Given the description of an element on the screen output the (x, y) to click on. 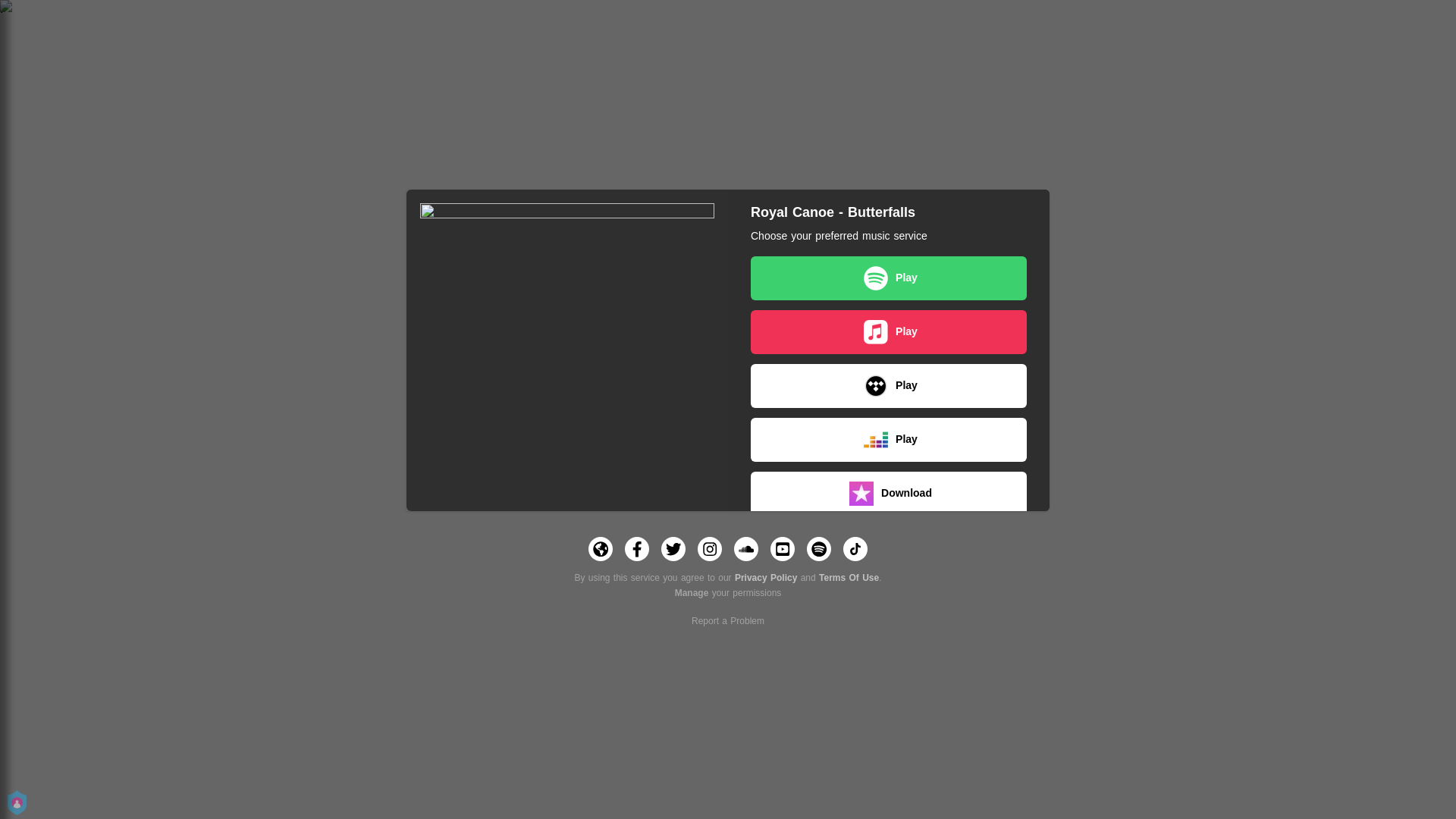
Privacy Policy Element type: text (765, 577)
Manage Element type: text (691, 592)
Buy Element type: text (888, 762)
Download Element type: text (888, 493)
Play Element type: text (888, 709)
Report a Problem Element type: text (727, 620)
Play Element type: text (888, 332)
Play Element type: text (888, 547)
Play Element type: text (888, 655)
Play Element type: text (888, 439)
Terms Of Use Element type: text (848, 577)
Play Element type: text (888, 385)
Play Element type: text (888, 278)
